Given the description of an element on the screen output the (x, y) to click on. 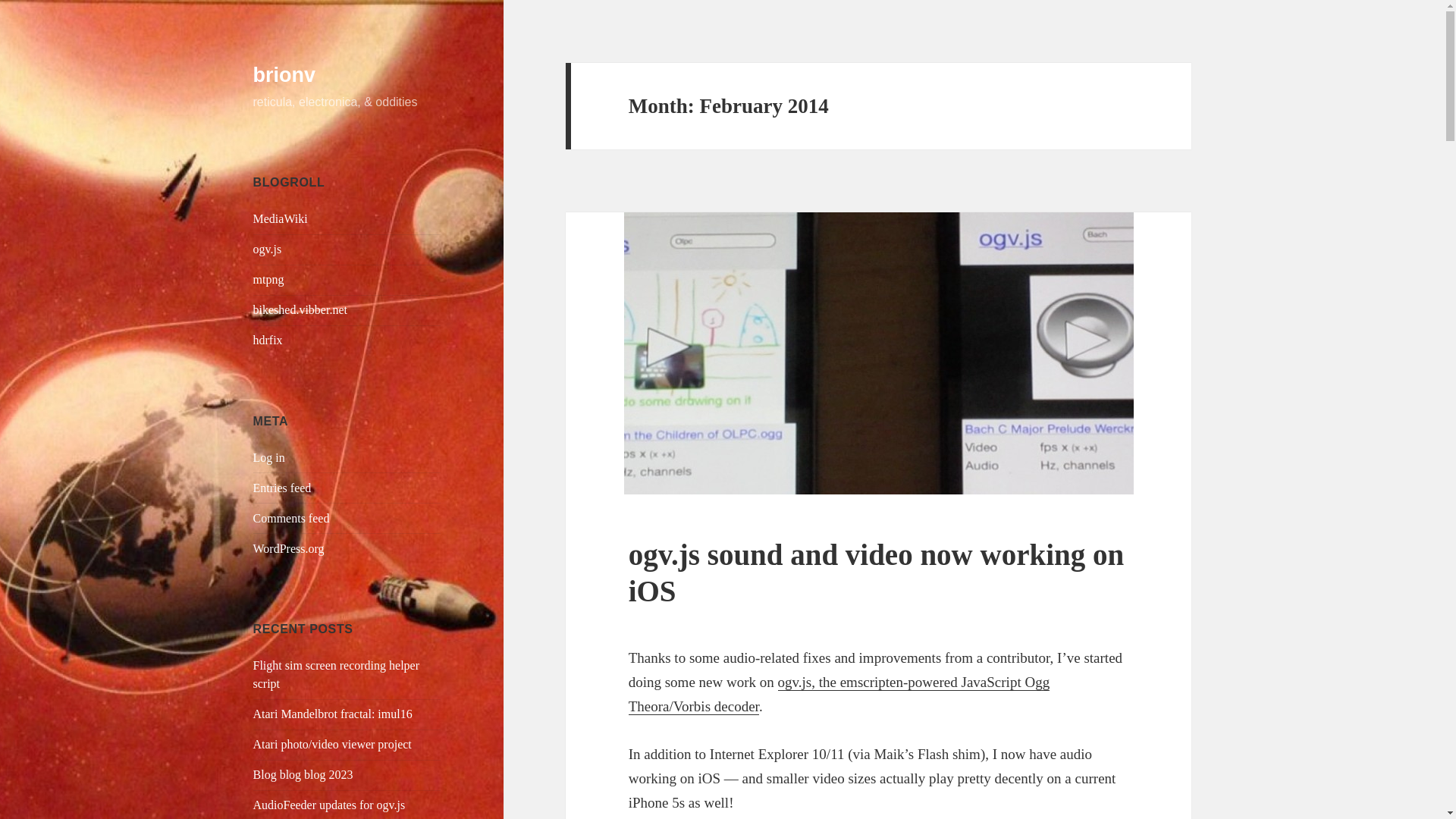
Comments feed (291, 517)
Fediverse feed (300, 309)
Log in (269, 457)
a multithreaded PNG encoder in Rust (268, 278)
mtpng (268, 278)
Atari Mandelbrot fractal: imul16 (332, 713)
bikeshed.vibber.net (300, 309)
Entries feed (282, 487)
ogv.js (267, 248)
Flight sim screen recording helper script (336, 674)
